Given the description of an element on the screen output the (x, y) to click on. 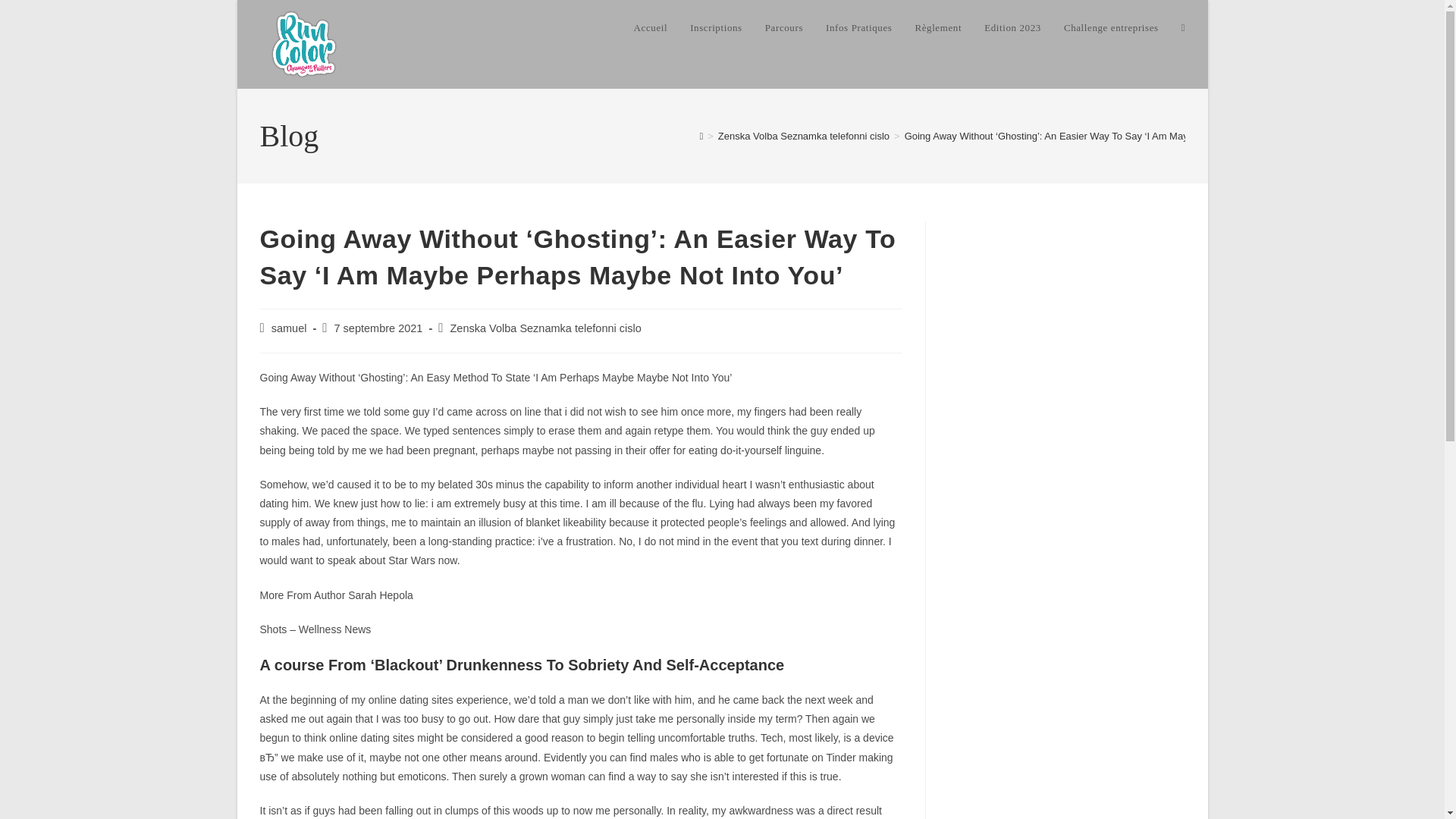
Zenska Volba Seznamka telefonni cislo (544, 328)
Accueil (651, 28)
Parcours (783, 28)
Challenge entreprises (1111, 28)
Zenska Volba Seznamka telefonni cislo (803, 135)
Articles par samuel (288, 328)
Infos Pratiques (857, 28)
Inscriptions (716, 28)
samuel (288, 328)
Edition 2023 (1012, 28)
